Given the description of an element on the screen output the (x, y) to click on. 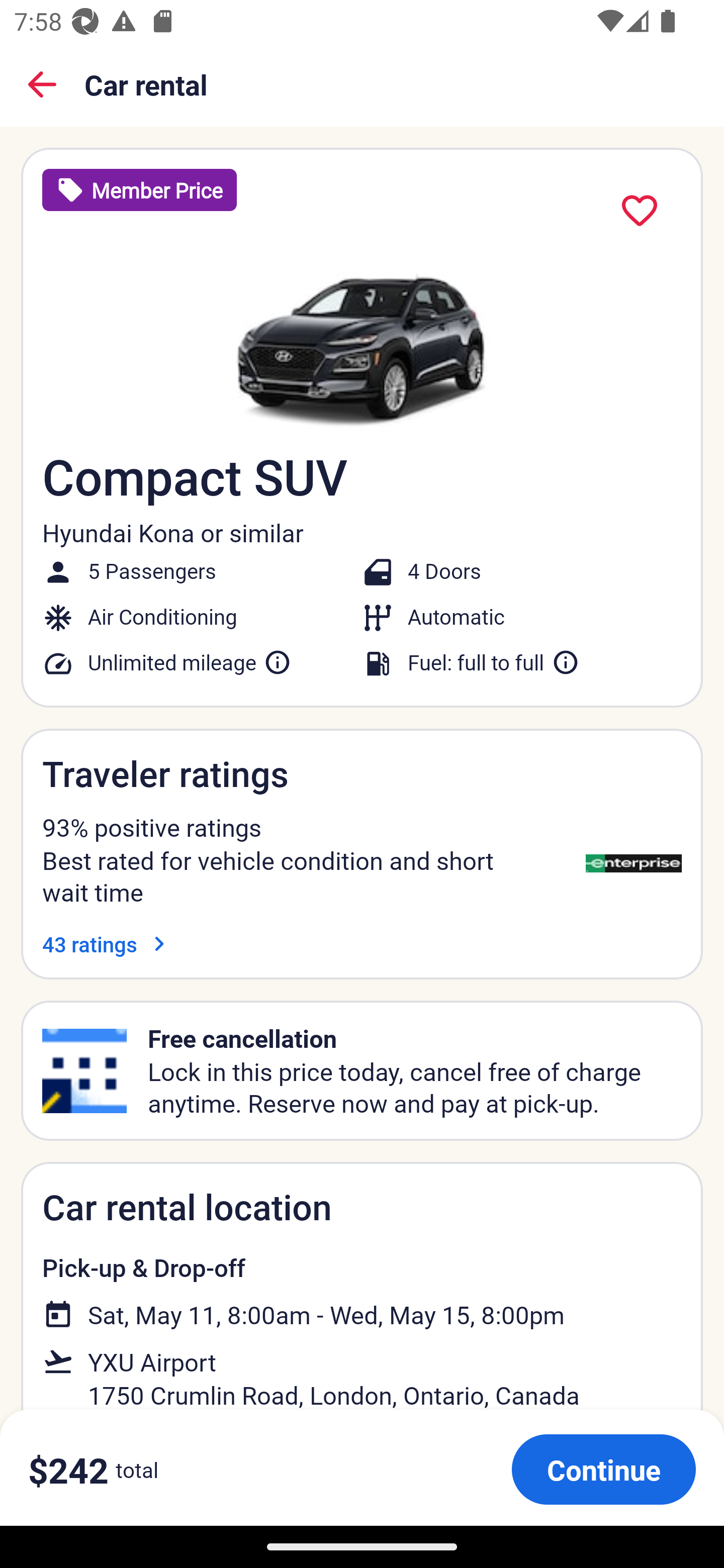
Go back to car rental search results (42, 84)
Save Compact SUV from Enterprise to a trip (639, 211)
Unlimited mileage (189, 662)
Fuel: full to full (493, 662)
43 ratings 43 ratings Link (107, 943)
Continue (603, 1468)
